Given the description of an element on the screen output the (x, y) to click on. 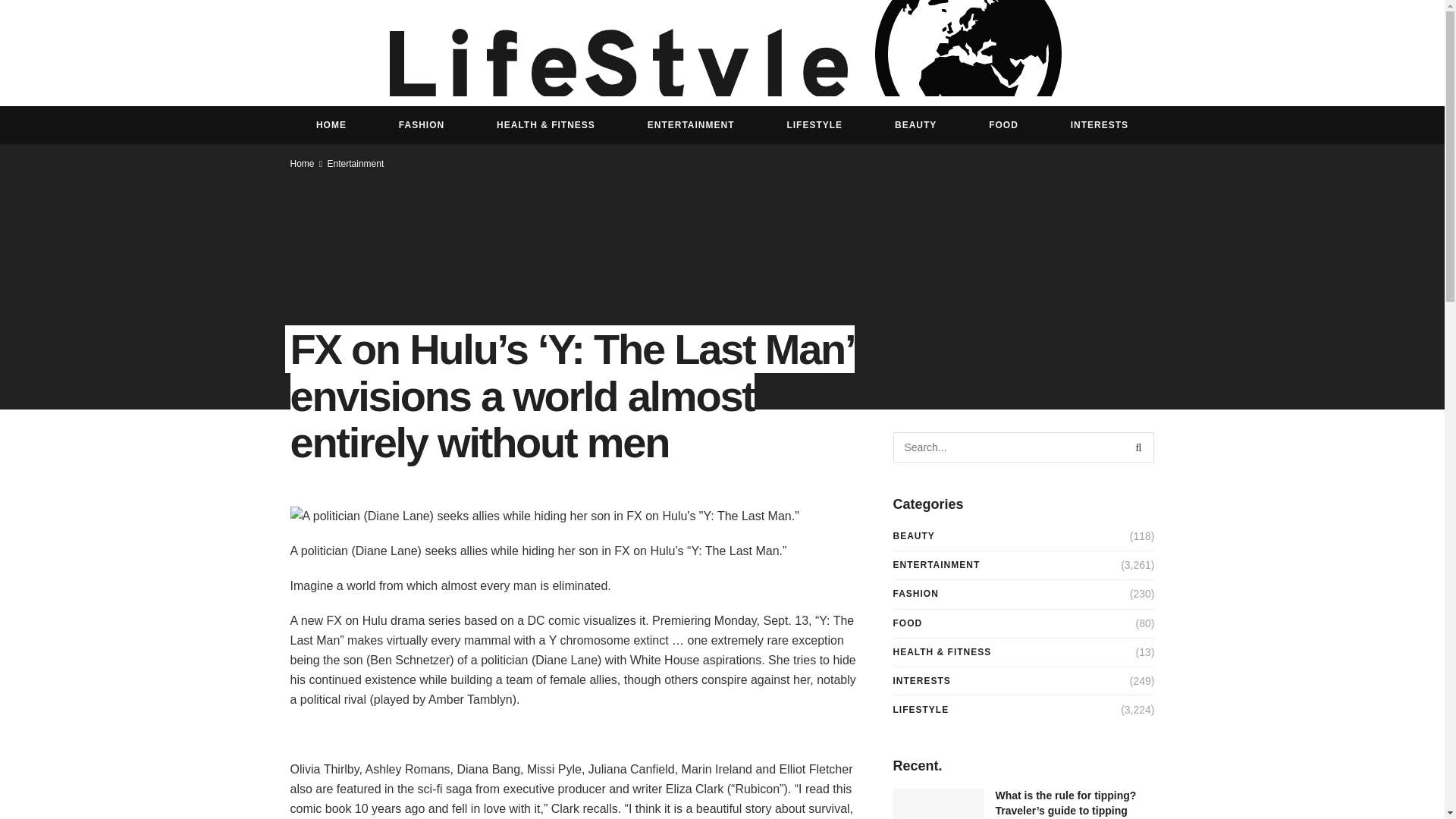
ENTERTAINMENT (690, 125)
INTERESTS (921, 681)
Entertainment (355, 163)
BEAUTY (915, 125)
BEAUTY (913, 536)
HOME (330, 125)
ENTERTAINMENT (936, 565)
FOOD (1003, 125)
LIFESTYLE (814, 125)
Home (301, 163)
